Given the description of an element on the screen output the (x, y) to click on. 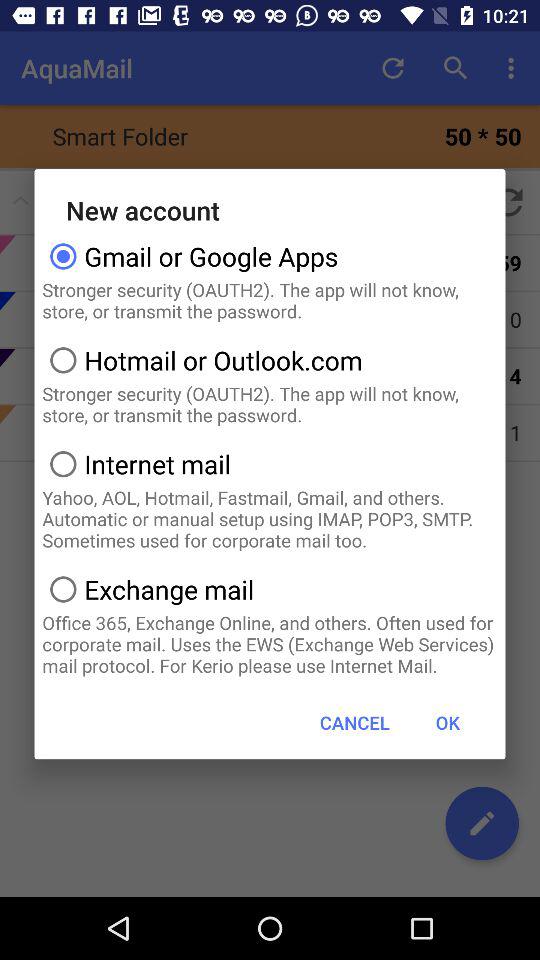
open icon to the right of cancel icon (447, 722)
